Given the description of an element on the screen output the (x, y) to click on. 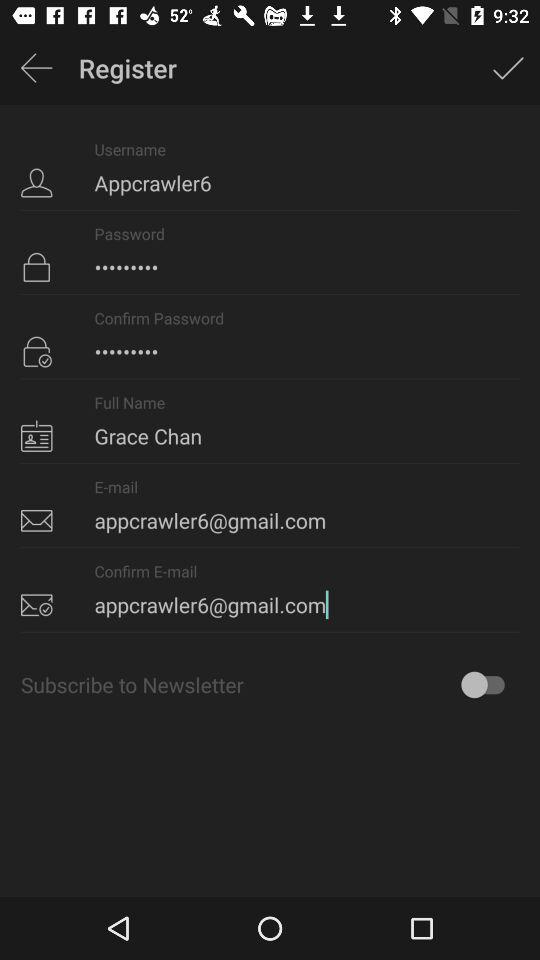
go back to the main screen (36, 68)
